Given the description of an element on the screen output the (x, y) to click on. 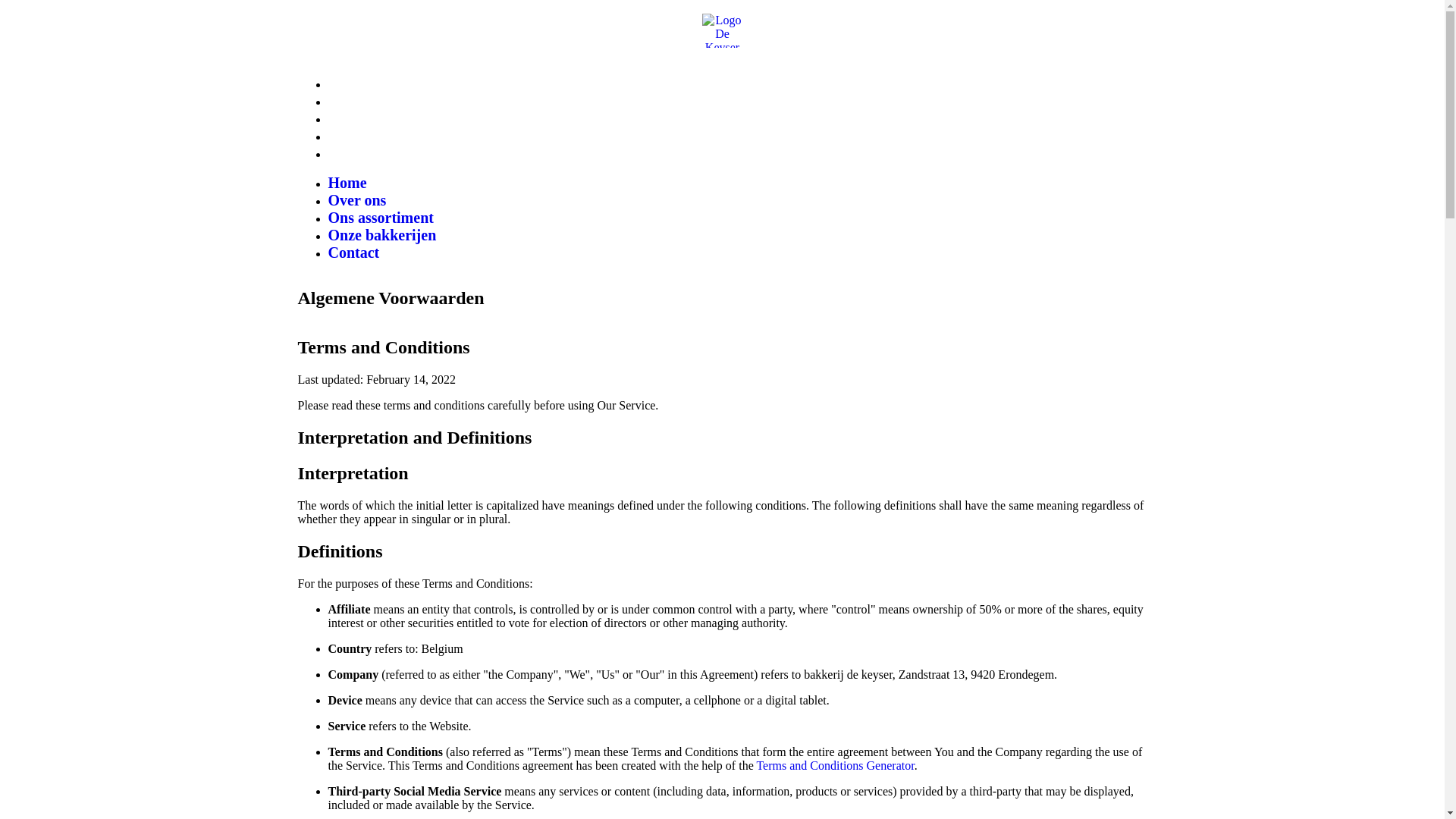
Contact Element type: text (353, 252)
Over ons Element type: text (356, 199)
Terms and Conditions Generator Element type: text (834, 765)
Ons assortiment Element type: text (380, 117)
Over ons Element type: text (356, 100)
Ons assortiment Element type: text (380, 217)
Onze bakkerijen Element type: text (381, 234)
Contact Element type: text (353, 152)
Home Element type: text (346, 83)
Onze bakkerijen Element type: text (381, 135)
Home Element type: text (346, 182)
